Given the description of an element on the screen output the (x, y) to click on. 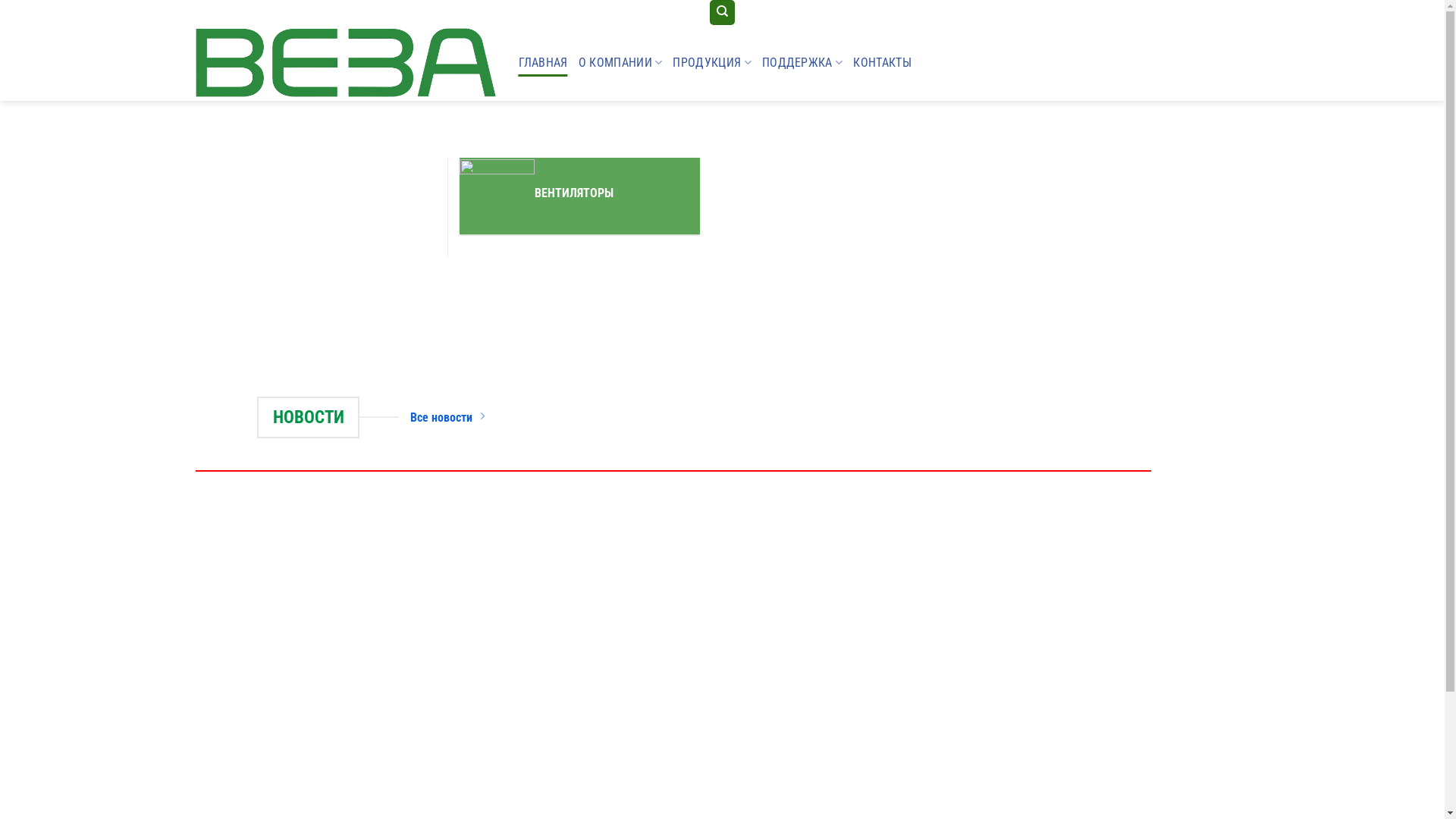
Skip to content Element type: text (0, 0)
